Given the description of an element on the screen output the (x, y) to click on. 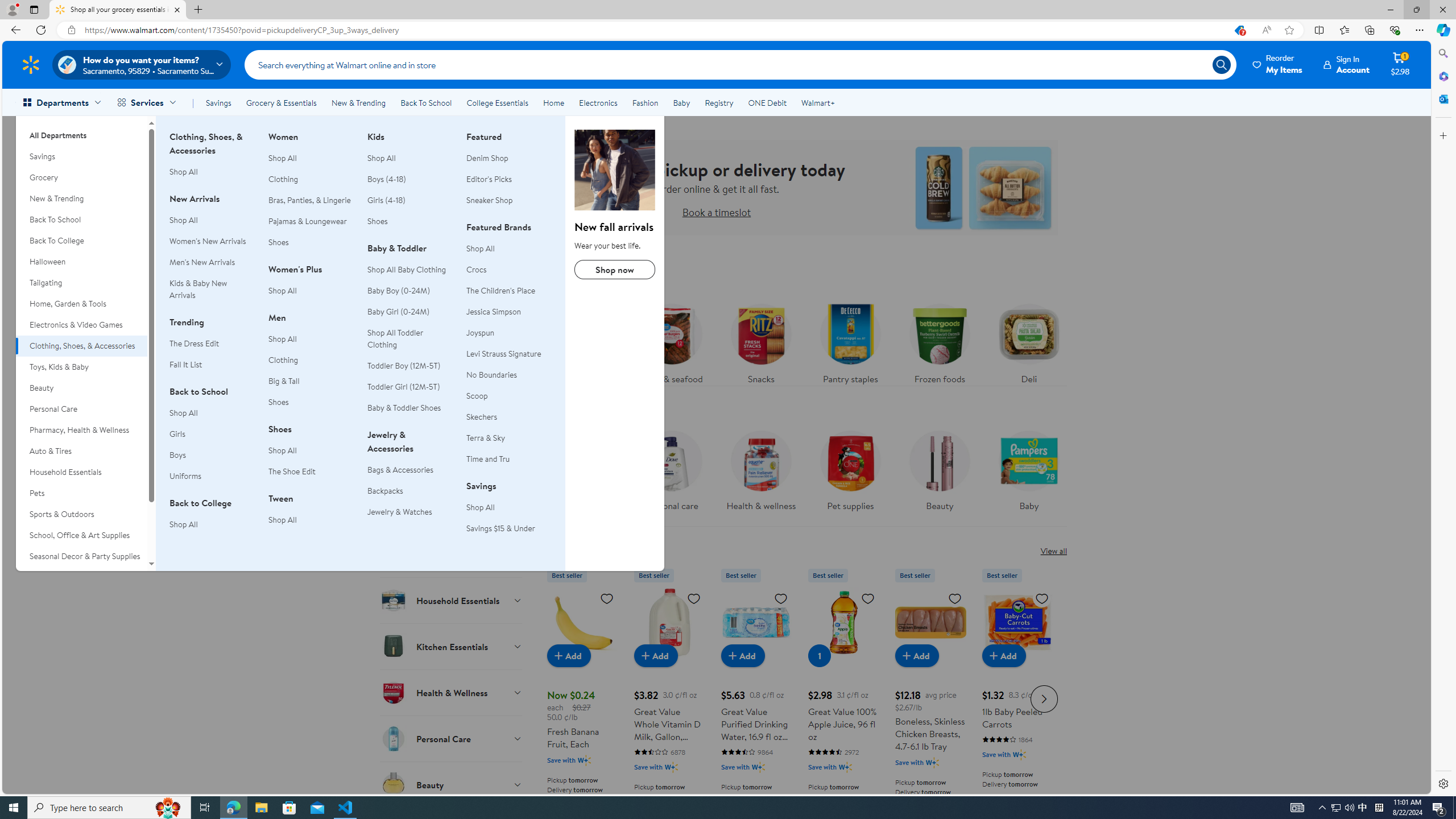
Savings (217, 102)
Home, Garden & Tools (81, 303)
Health & wellness (761, 473)
Sports & Outdoors (81, 513)
Frozen foods (938, 340)
Big & Tall (310, 381)
Toddler Girl (12M-5T) (402, 386)
ShoesShop AllThe Shoe Edit (310, 456)
Household Essentials (451, 600)
Toddler Boy (12M-5T) (403, 365)
Movies, Music & Books (81, 577)
